Given the description of an element on the screen output the (x, y) to click on. 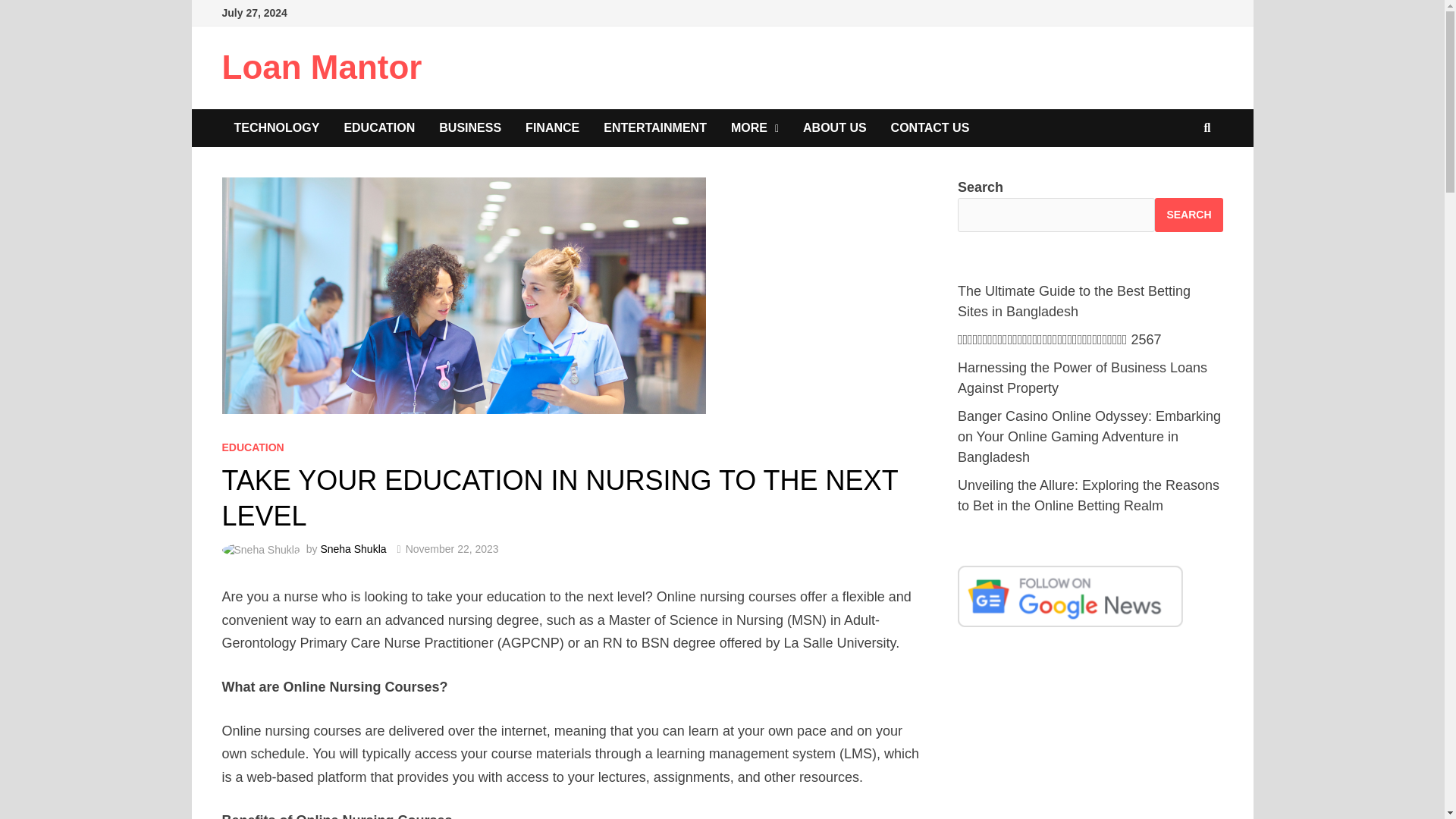
EDUCATION (378, 127)
Sneha Shukla (352, 548)
TAKE YOUR EDUCATION IN NURSING TO THE NEXT LEVEL 1 (462, 295)
MORE (754, 127)
BUSINESS (469, 127)
November 22, 2023 (452, 548)
ENTERTAINMENT (655, 127)
Loan Mantor (321, 66)
FINANCE (552, 127)
EDUCATION (252, 447)
CONTACT US (930, 127)
TECHNOLOGY (276, 127)
ABOUT US (834, 127)
